Given the description of an element on the screen output the (x, y) to click on. 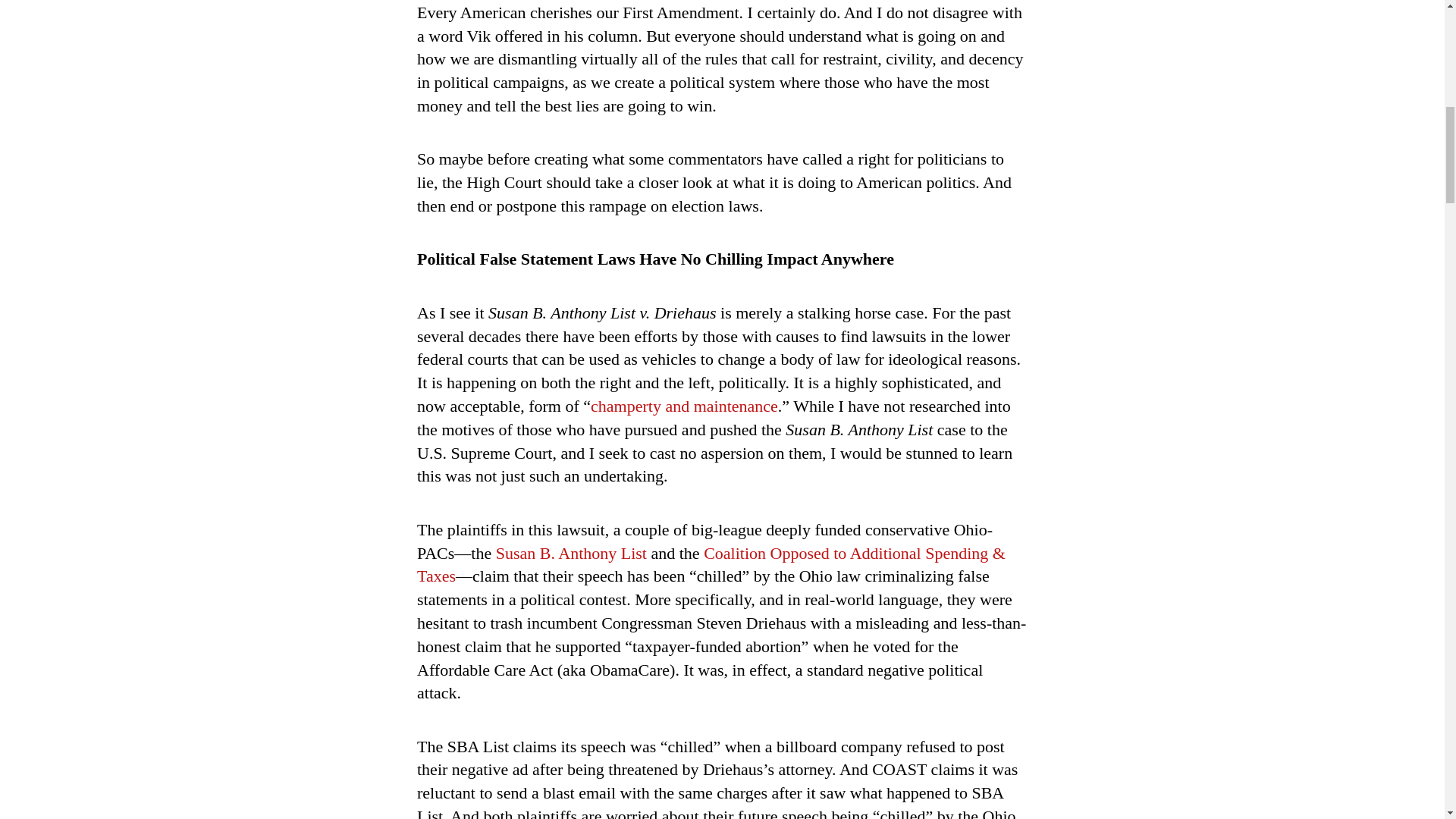
Susan B. Anthony List (571, 552)
champerty and maintenance (684, 405)
